Given the description of an element on the screen output the (x, y) to click on. 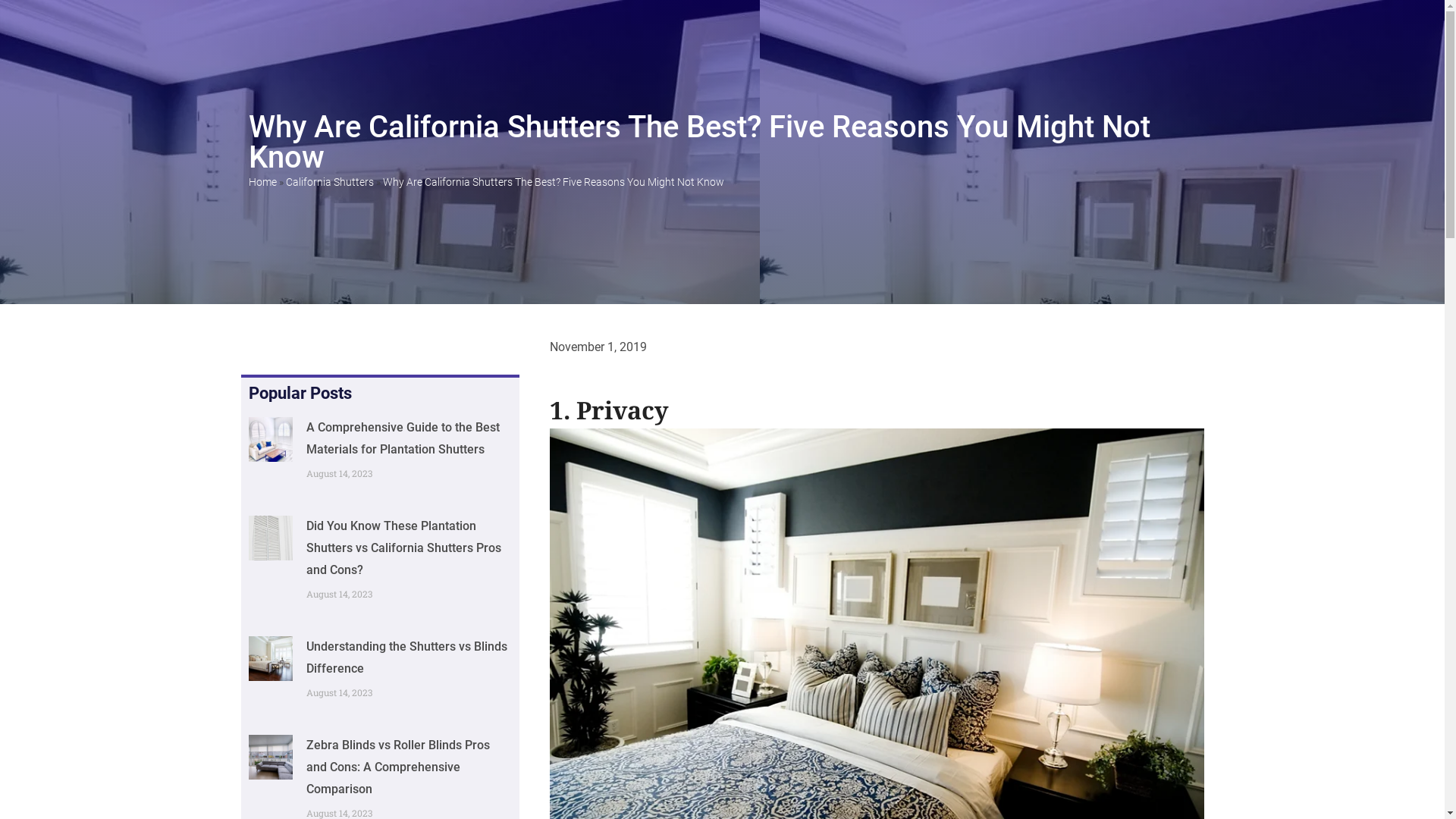
November 1, 2019 Element type: text (597, 346)
Home Element type: text (262, 181)
California Shutters Element type: text (329, 181)
Understanding the Shutters vs Blinds Difference Element type: text (406, 657)
